Given the description of an element on the screen output the (x, y) to click on. 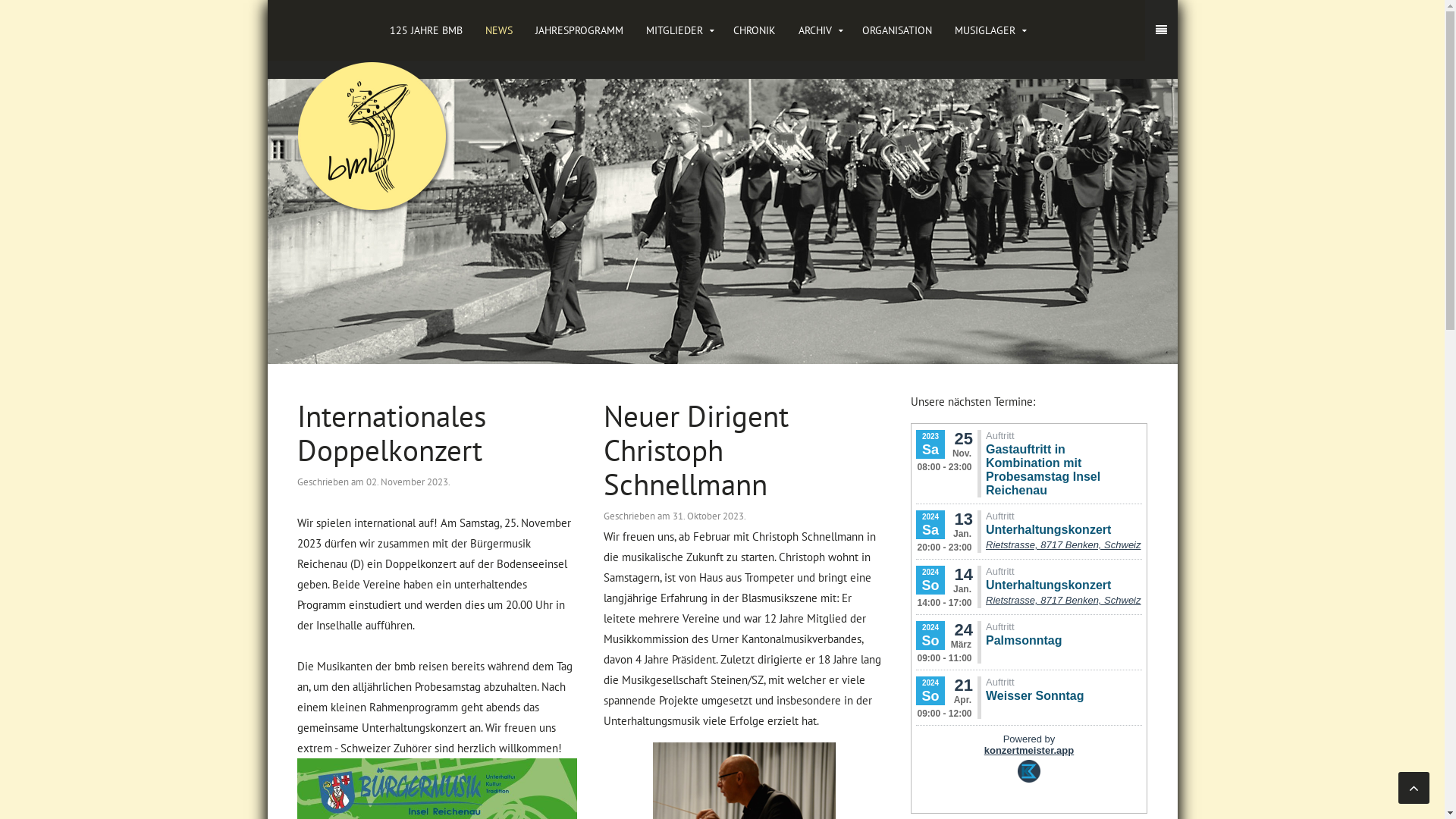
MITGLIEDER Element type: text (677, 30)
CHRONIK Element type: text (754, 30)
MUSIGLAGER Element type: text (988, 30)
ARCHIV Element type: text (818, 30)
NEWS Element type: text (498, 30)
Internationales Doppelkonzert Element type: text (391, 432)
ORGANISATION Element type: text (896, 30)
125 JAHRE BMB Element type: text (425, 30)
JAHRESPROGRAMM Element type: text (578, 30)
Neuer Dirigent Christoph Schnellmann Element type: text (695, 449)
